Given the description of an element on the screen output the (x, y) to click on. 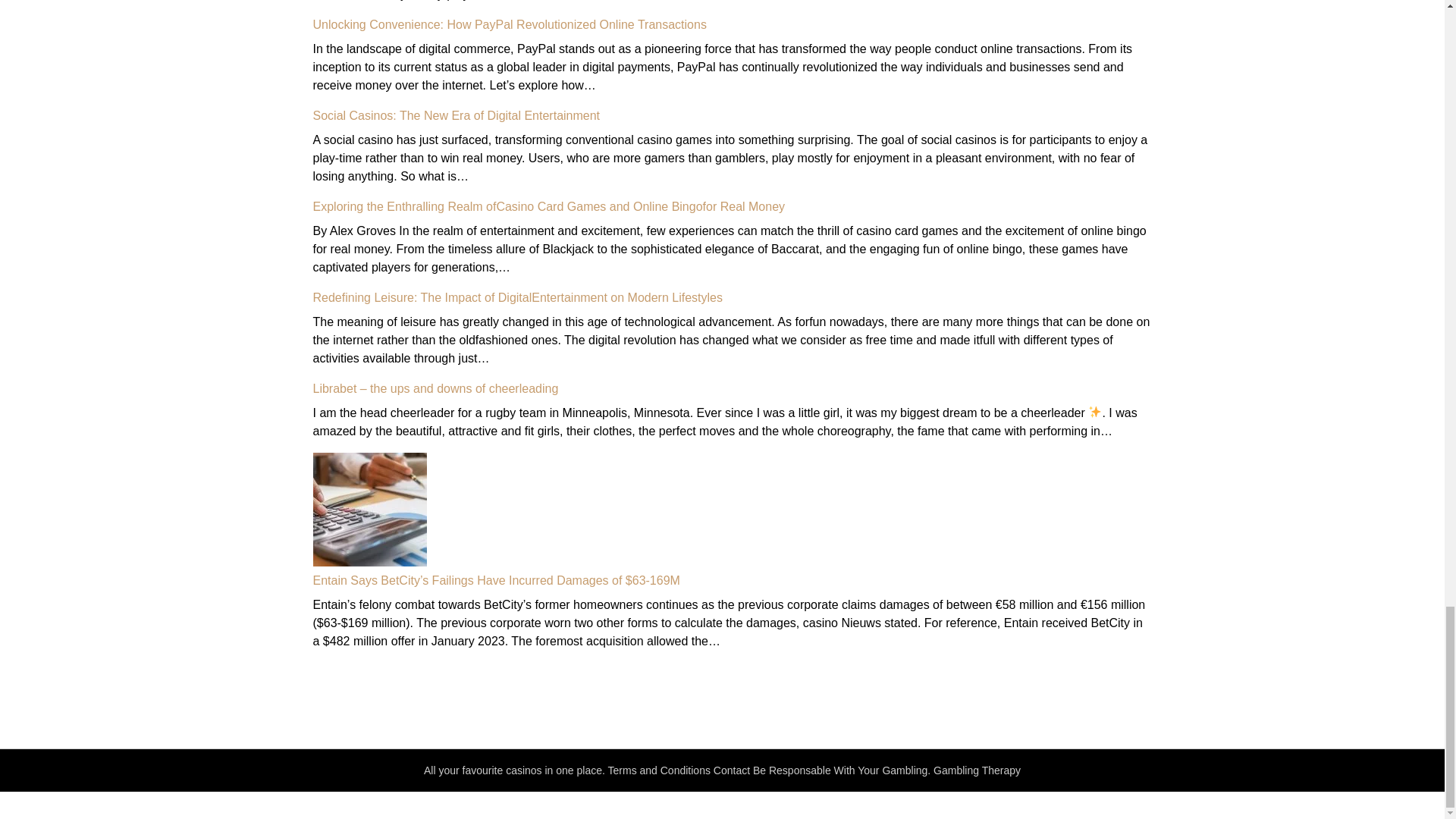
Contact (731, 770)
Gambling Therapy (976, 770)
Terms and Conditions (659, 770)
Be Responsable With Your Gambling. (841, 770)
Social Casinos: The New Era of Digital Entertainment (456, 115)
